Given the description of an element on the screen output the (x, y) to click on. 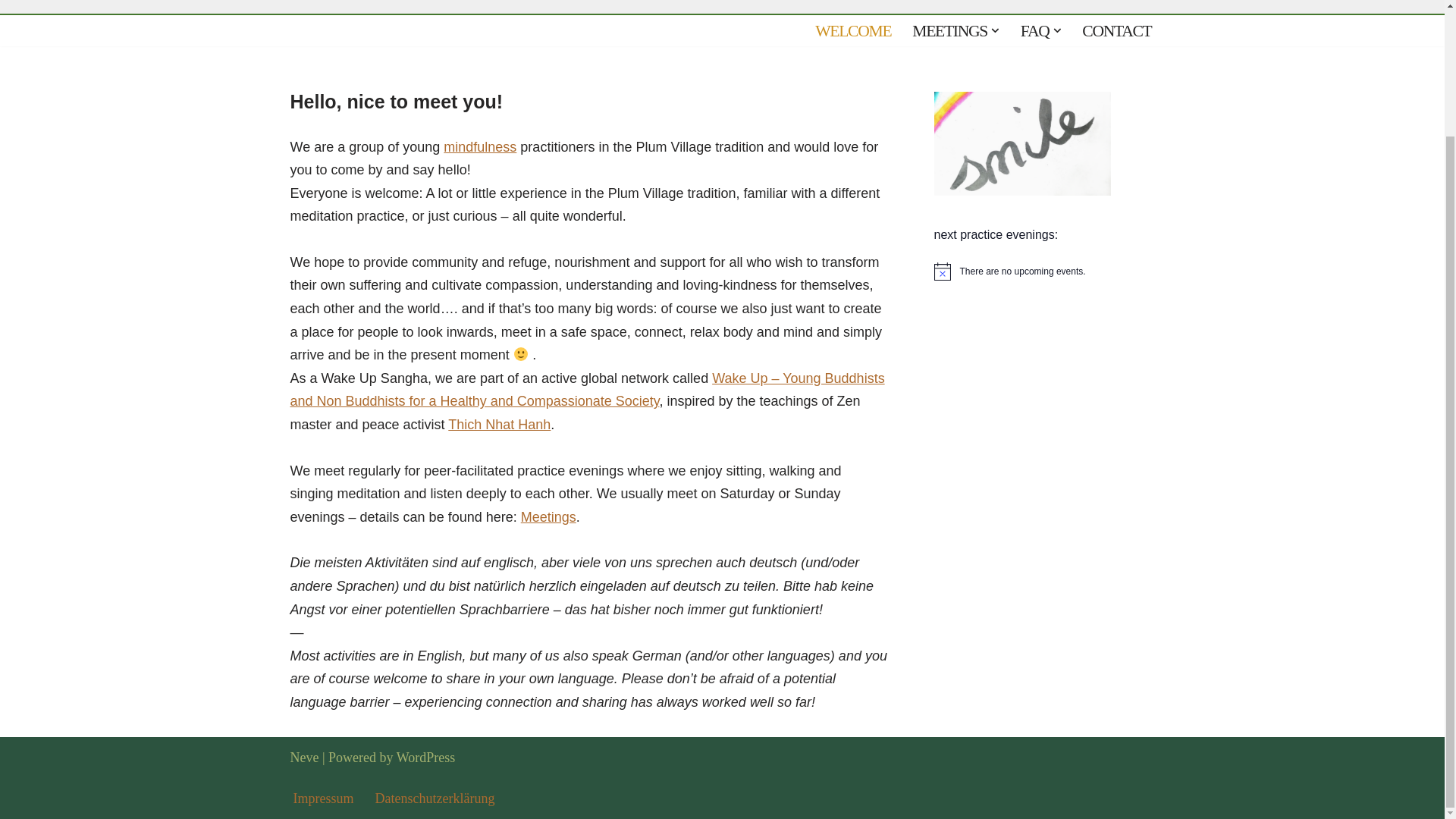
Meetings (548, 516)
MEETINGS (949, 30)
FAQ (1034, 30)
Thich Nhat Hanh (499, 424)
mindfulness (480, 146)
Impressum (322, 798)
WELCOME (853, 30)
WordPress (425, 757)
CONTACT (1116, 30)
Neve (303, 757)
